Given the description of an element on the screen output the (x, y) to click on. 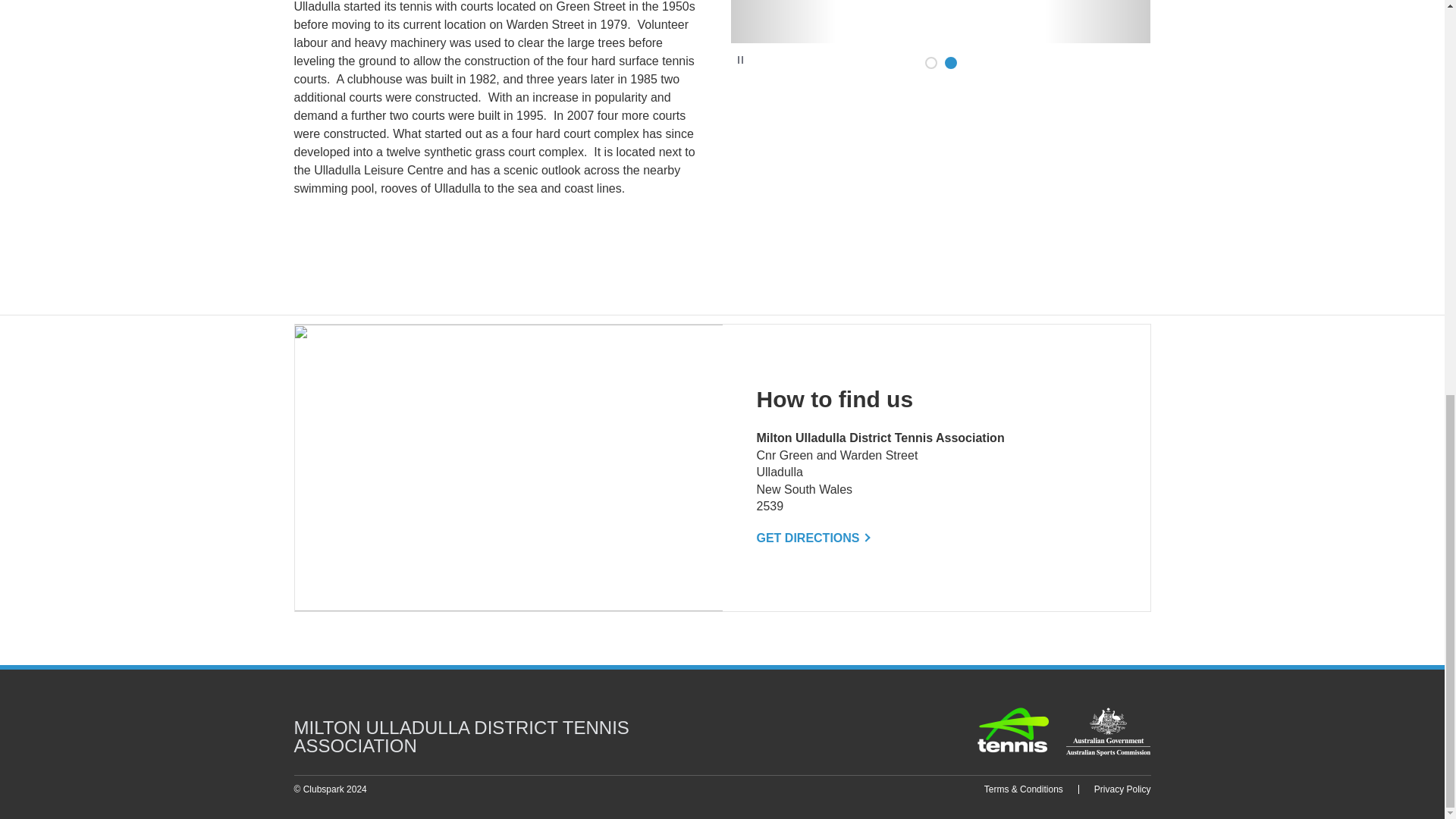
1 (930, 62)
Privacy Policy (1122, 788)
Tennis Australia (1013, 730)
Pause (739, 59)
2 (950, 62)
GET DIRECTIONS (813, 538)
